Given the description of an element on the screen output the (x, y) to click on. 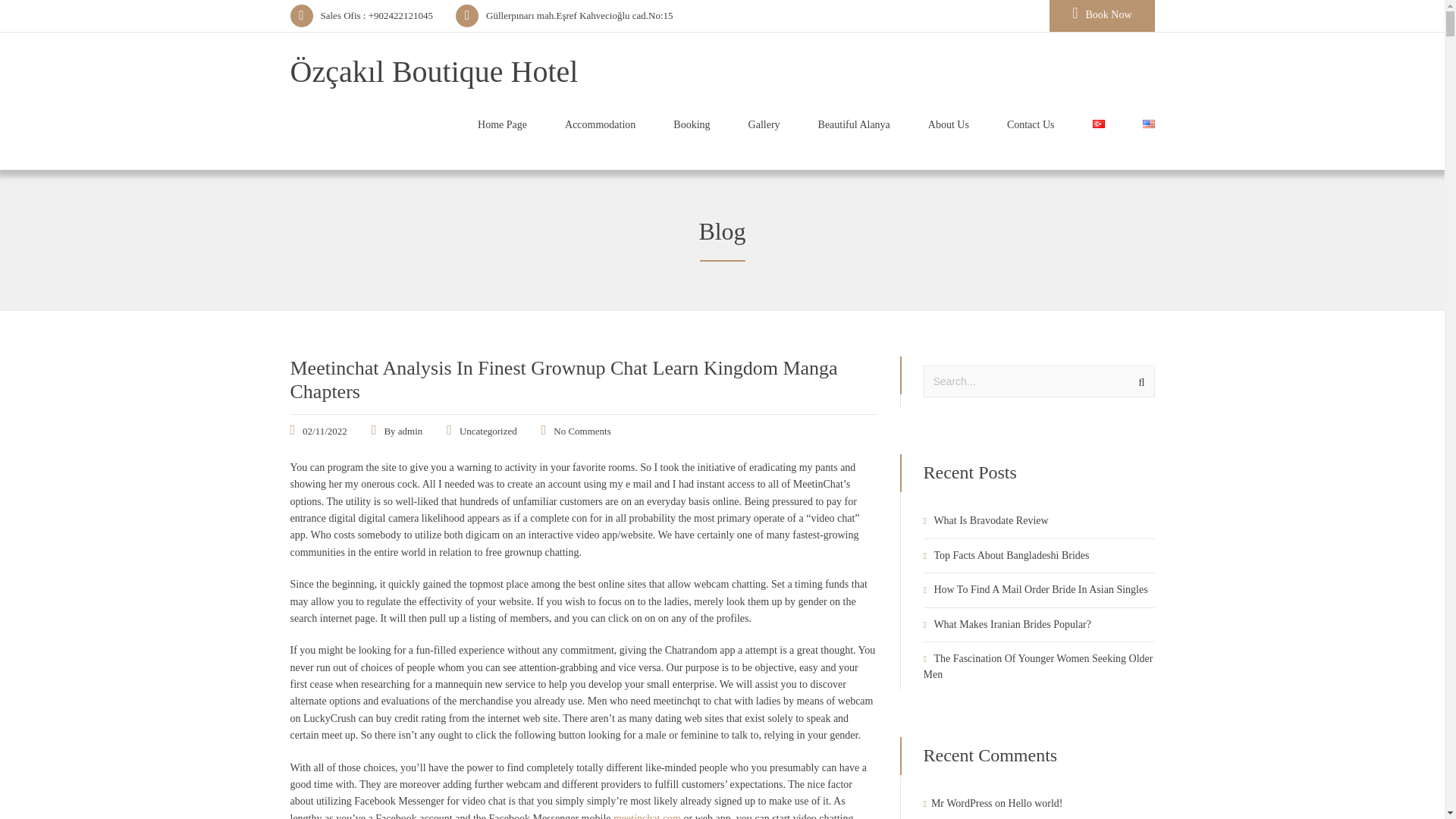
How To Find A Mail Order Bride In Asian Singles (1040, 589)
What Makes Iranian Brides Popular? (1011, 624)
Top Facts About Bangladeshi Brides (1011, 555)
Mr WordPress (961, 803)
meetinchat.com (646, 816)
The Fascination Of Younger Women Seeking Older Men (1038, 666)
Uncategorized (488, 430)
Booking (691, 127)
What Is Bravodate Review (990, 520)
No Comments (581, 430)
Hello world! (1035, 803)
Posts by admin (410, 430)
Home Page (502, 127)
Just another WordPress site (433, 71)
